Given the description of an element on the screen output the (x, y) to click on. 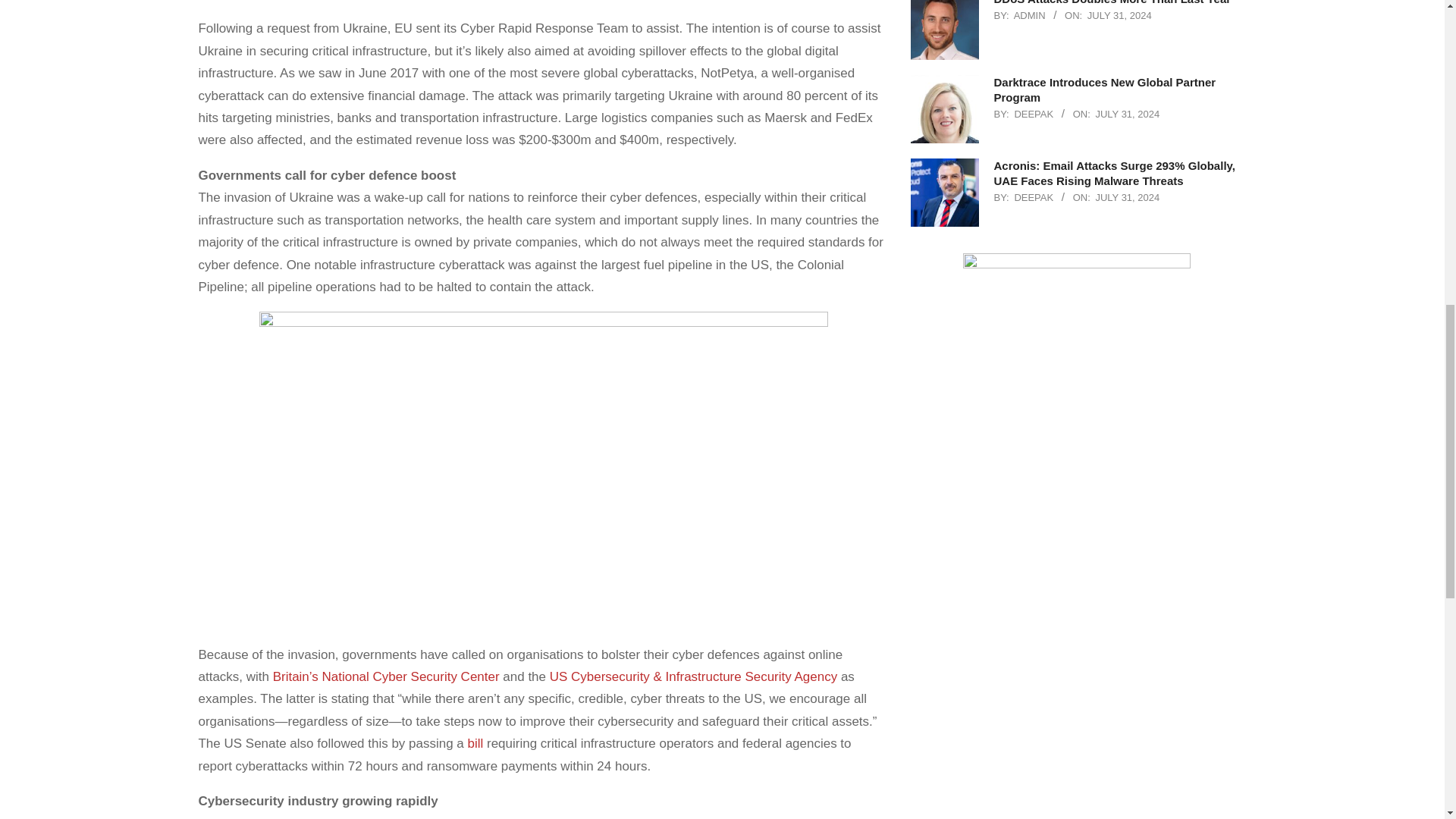
Wednesday, July 31, 2024, 1:58 pm (1119, 15)
Wednesday, July 31, 2024, 11:46 am (1126, 113)
Posts by admin (1029, 15)
Posts by Deepak (1032, 113)
Posts by Deepak (1032, 197)
Wednesday, July 31, 2024, 8:27 am (1126, 197)
